Given the description of an element on the screen output the (x, y) to click on. 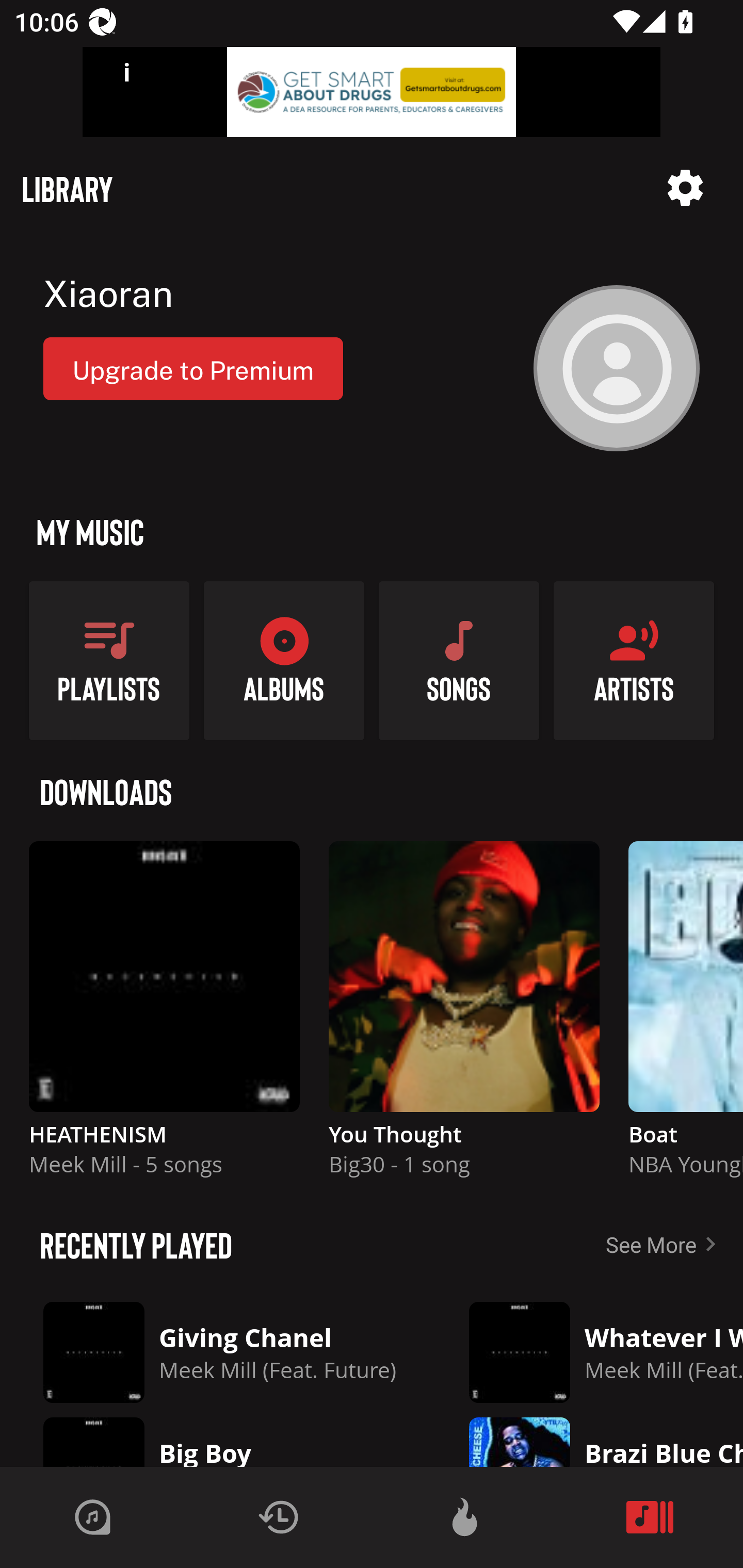
Description (684, 188)
Upgrade to Premium (193, 368)
Playlists (108, 660)
Albums (283, 660)
Songs (458, 660)
Artists (633, 660)
Description HEATHENISM Meek Mill - 5 songs (164, 1017)
Description You Thought Big30 - 1 song (463, 1017)
See More (664, 1244)
Description Giving Chanel Meek Mill (Feat. Future) (219, 1352)
